Given the description of an element on the screen output the (x, y) to click on. 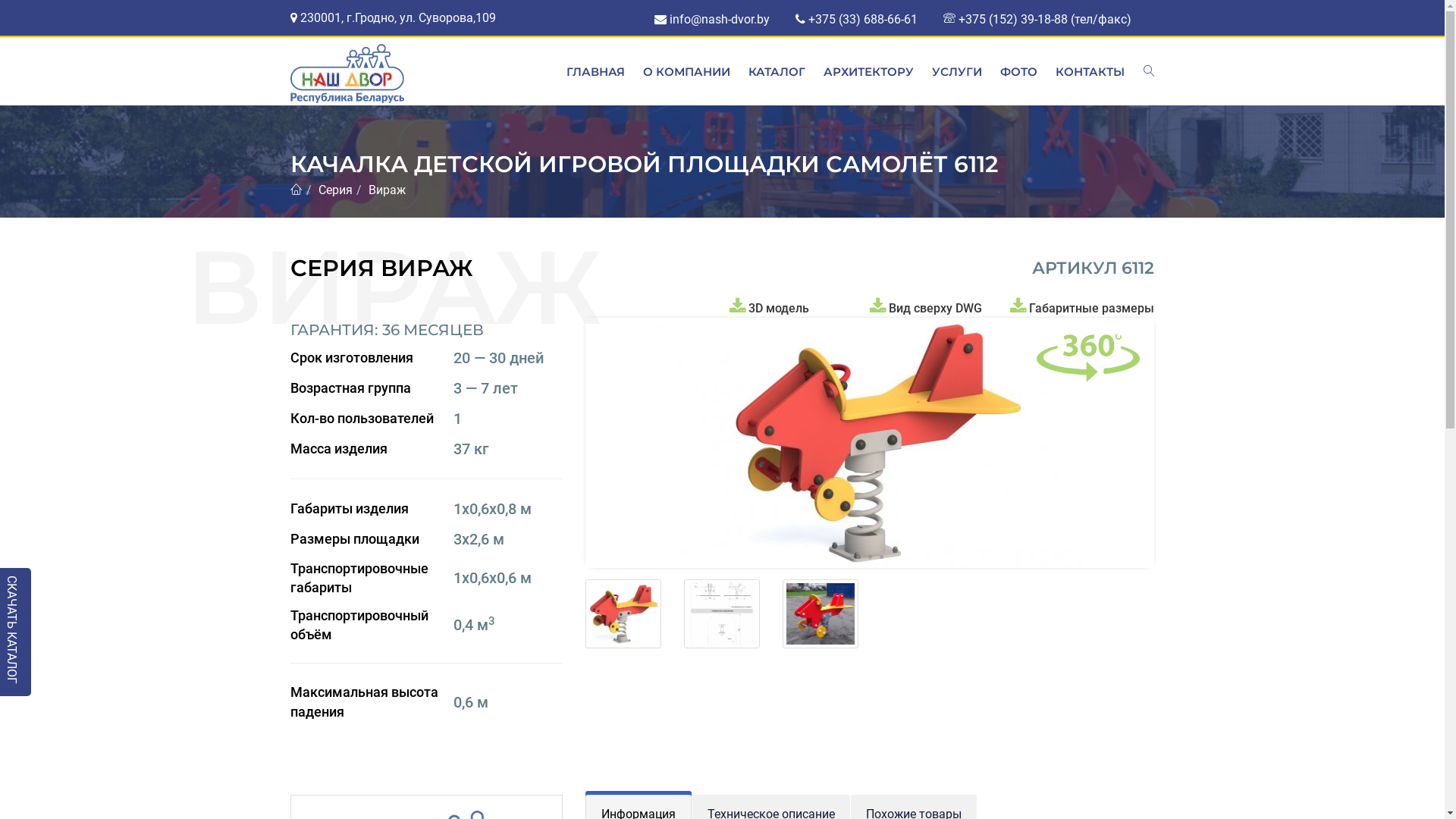
info@nash-dvor.by Element type: text (723, 19)
+375 (33) 688-66-61 Element type: text (867, 19)
